Given the description of an element on the screen output the (x, y) to click on. 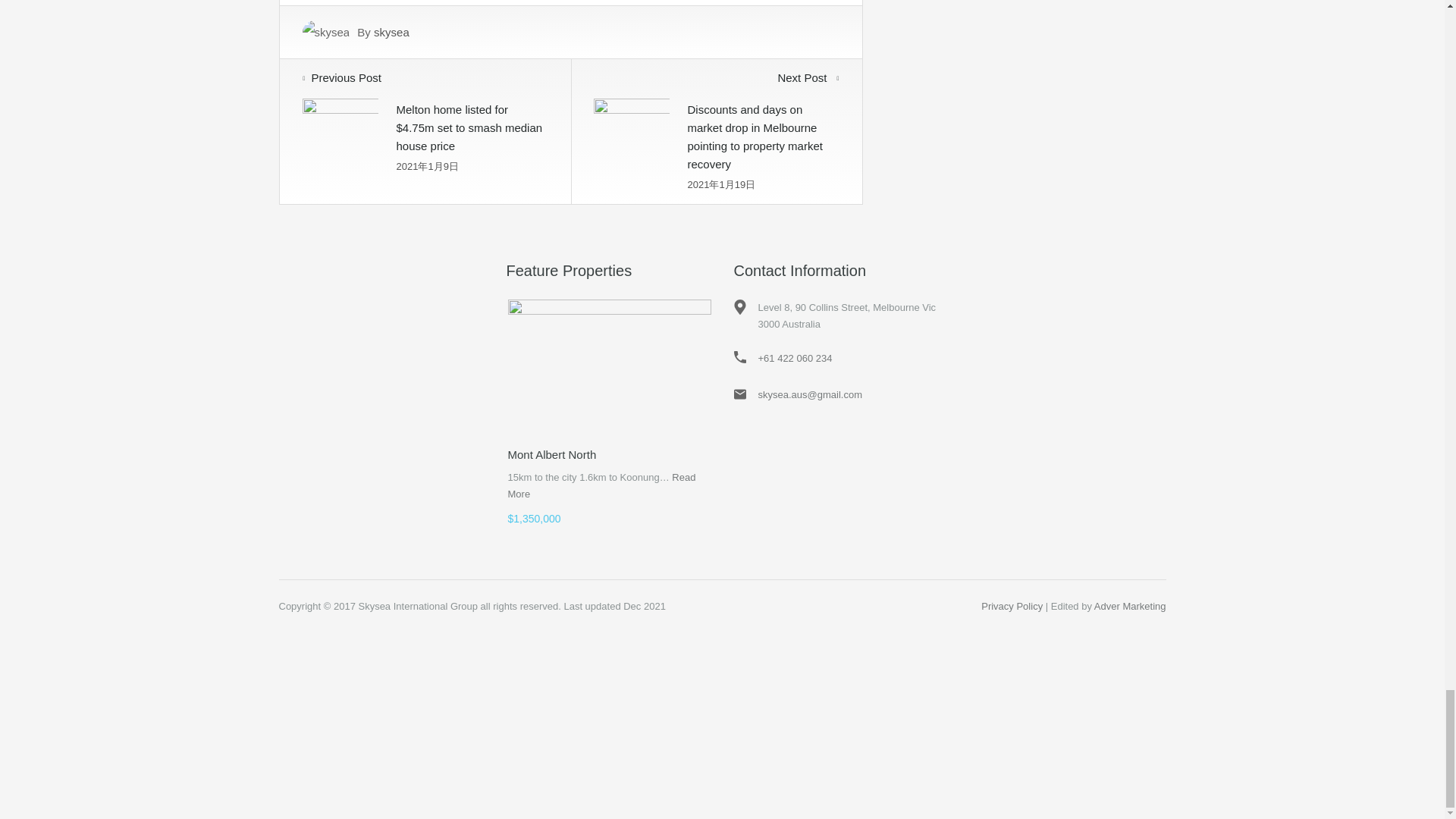
skysea (391, 31)
Adver Marketing (1130, 605)
Read More (601, 485)
Mont Albert North (552, 454)
Privacy Policy (1011, 605)
